Given the description of an element on the screen output the (x, y) to click on. 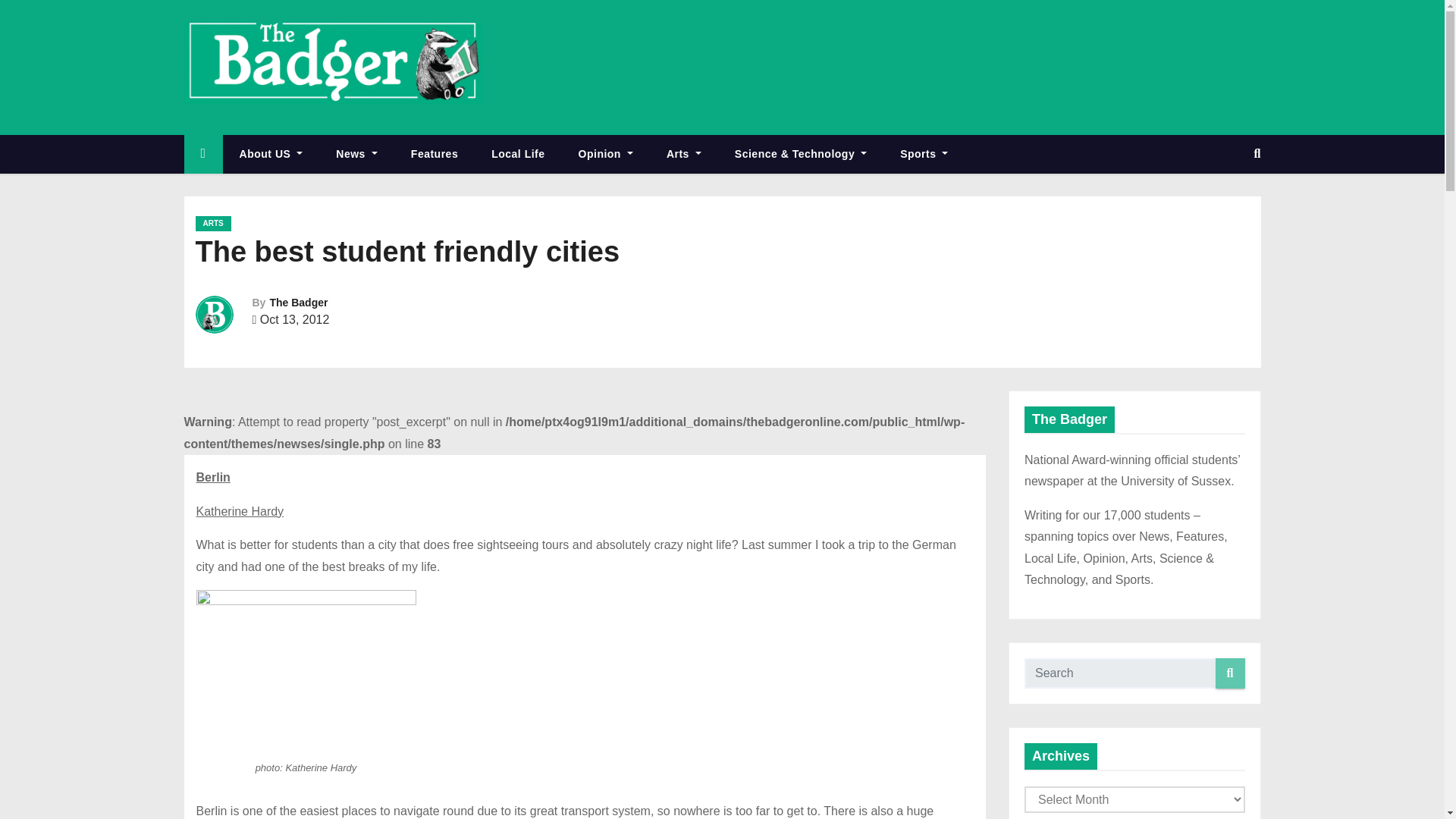
About US (271, 154)
Arts (683, 154)
News (356, 154)
Opinion (605, 154)
Opinion (605, 154)
Features (434, 154)
Local Life (517, 154)
The Badger (298, 302)
About US (271, 154)
ARTS (213, 223)
Local Life (517, 154)
Features (434, 154)
Home (202, 154)
News (356, 154)
Sports (923, 154)
